Given the description of an element on the screen output the (x, y) to click on. 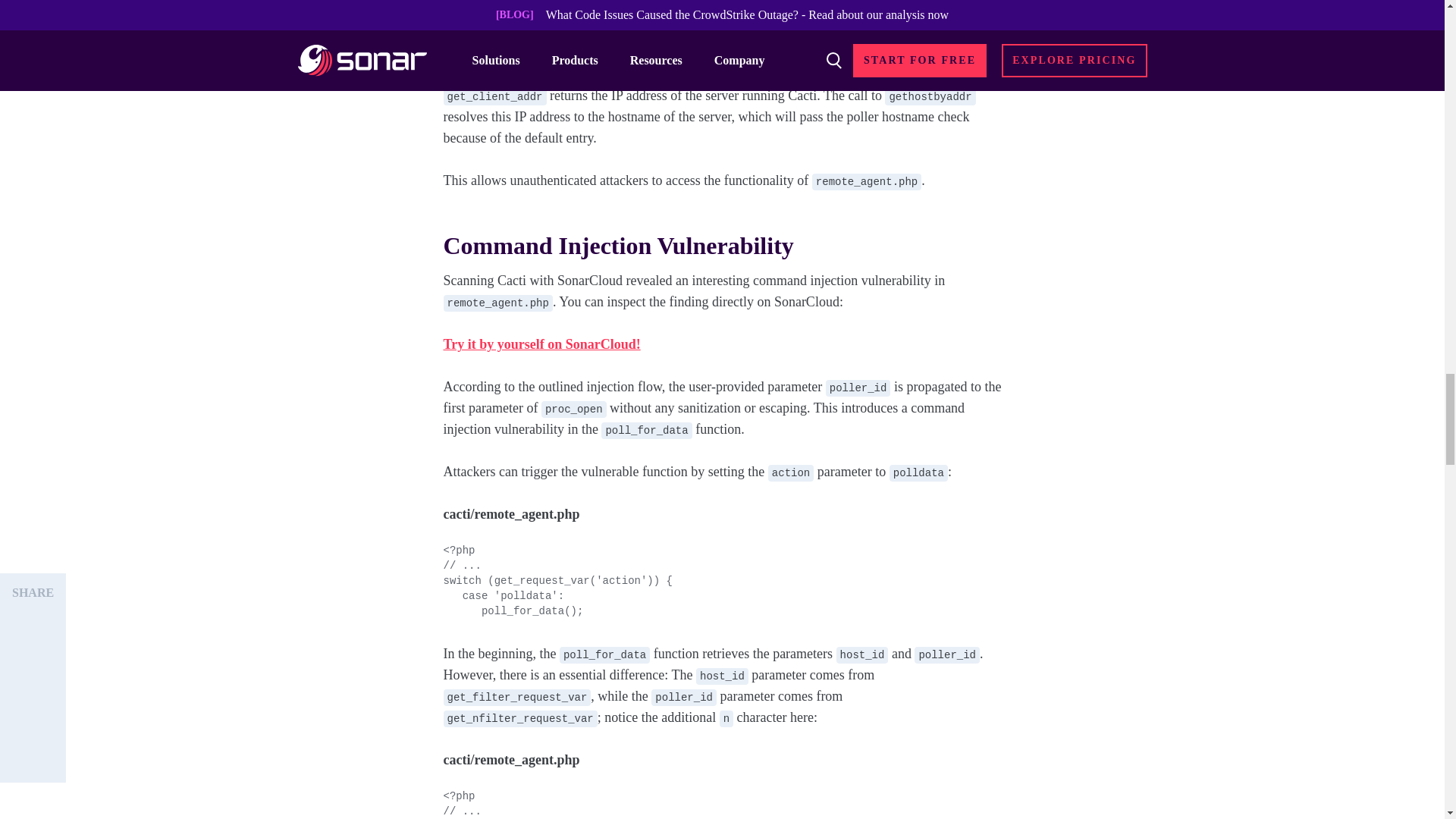
Try it by yourself on SonarCloud! (541, 344)
